Given the description of an element on the screen output the (x, y) to click on. 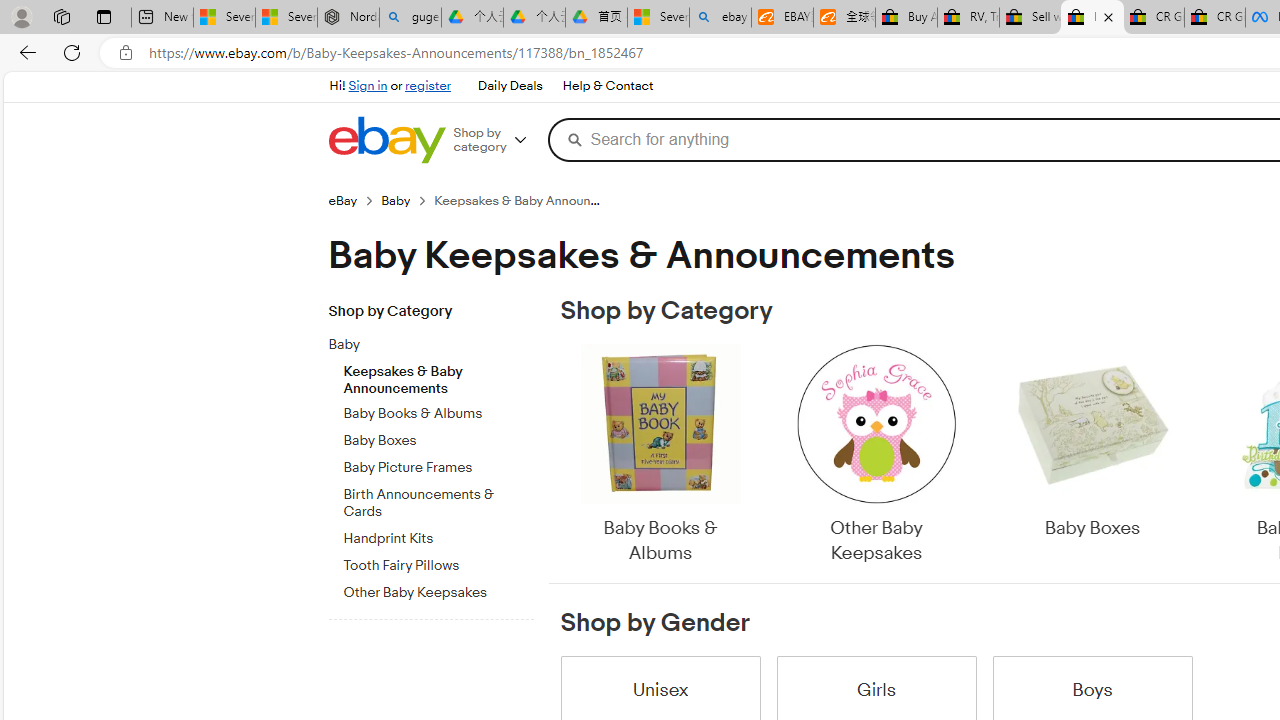
Sell worldwide with eBay (1030, 17)
Keepsakes & Baby Announcements (438, 375)
Go to previous slide (560, 455)
